Given the description of an element on the screen output the (x, y) to click on. 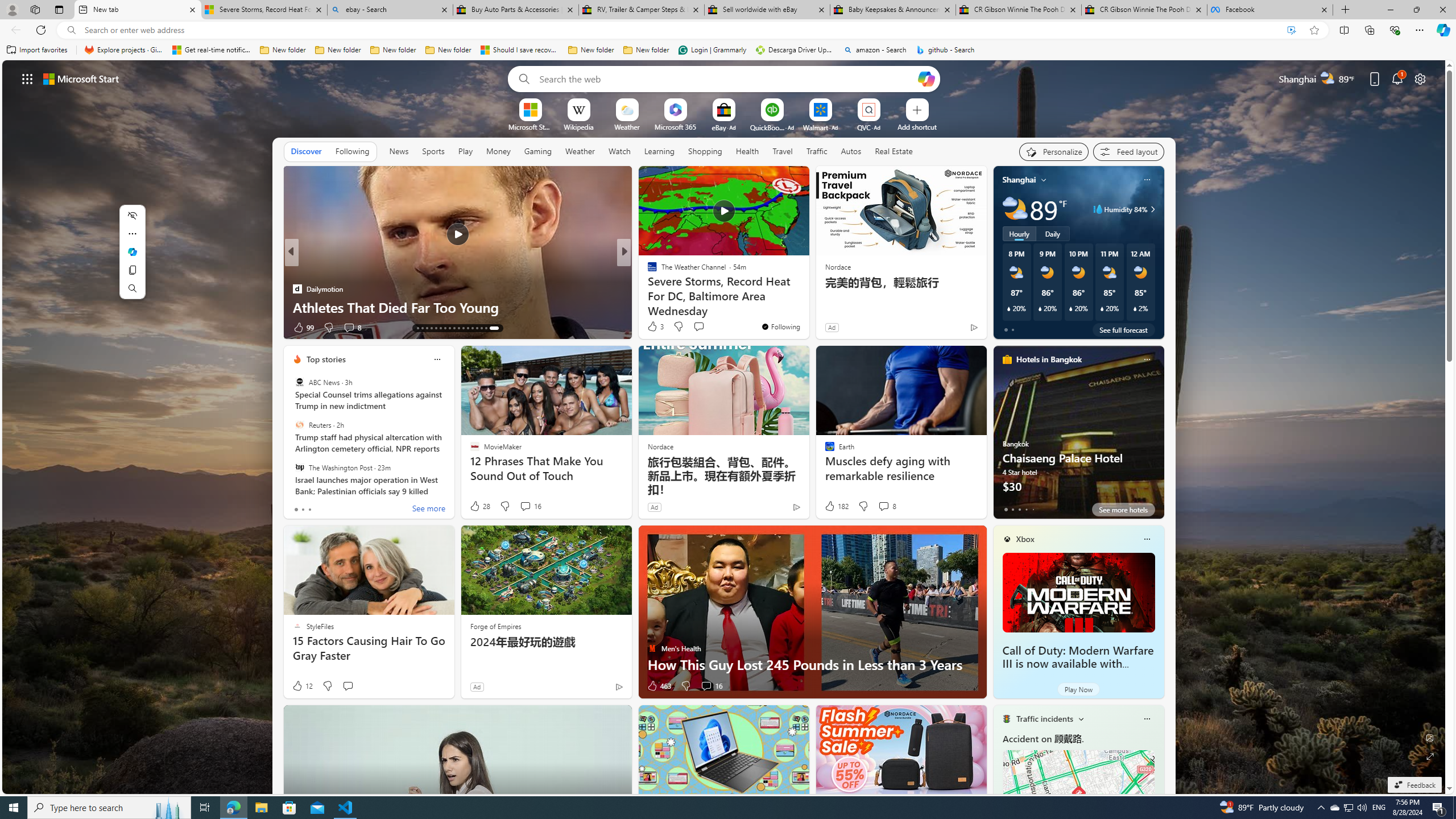
Real Estate (893, 151)
Descarga Driver Updater (794, 49)
13 Like (652, 327)
How to get rid of body odor, according to medical experts (807, 298)
Traffic (816, 151)
Eco Hugo (296, 270)
Buy Auto Parts & Accessories | eBay (515, 9)
Mini menu on text selection (132, 258)
